Given the description of an element on the screen output the (x, y) to click on. 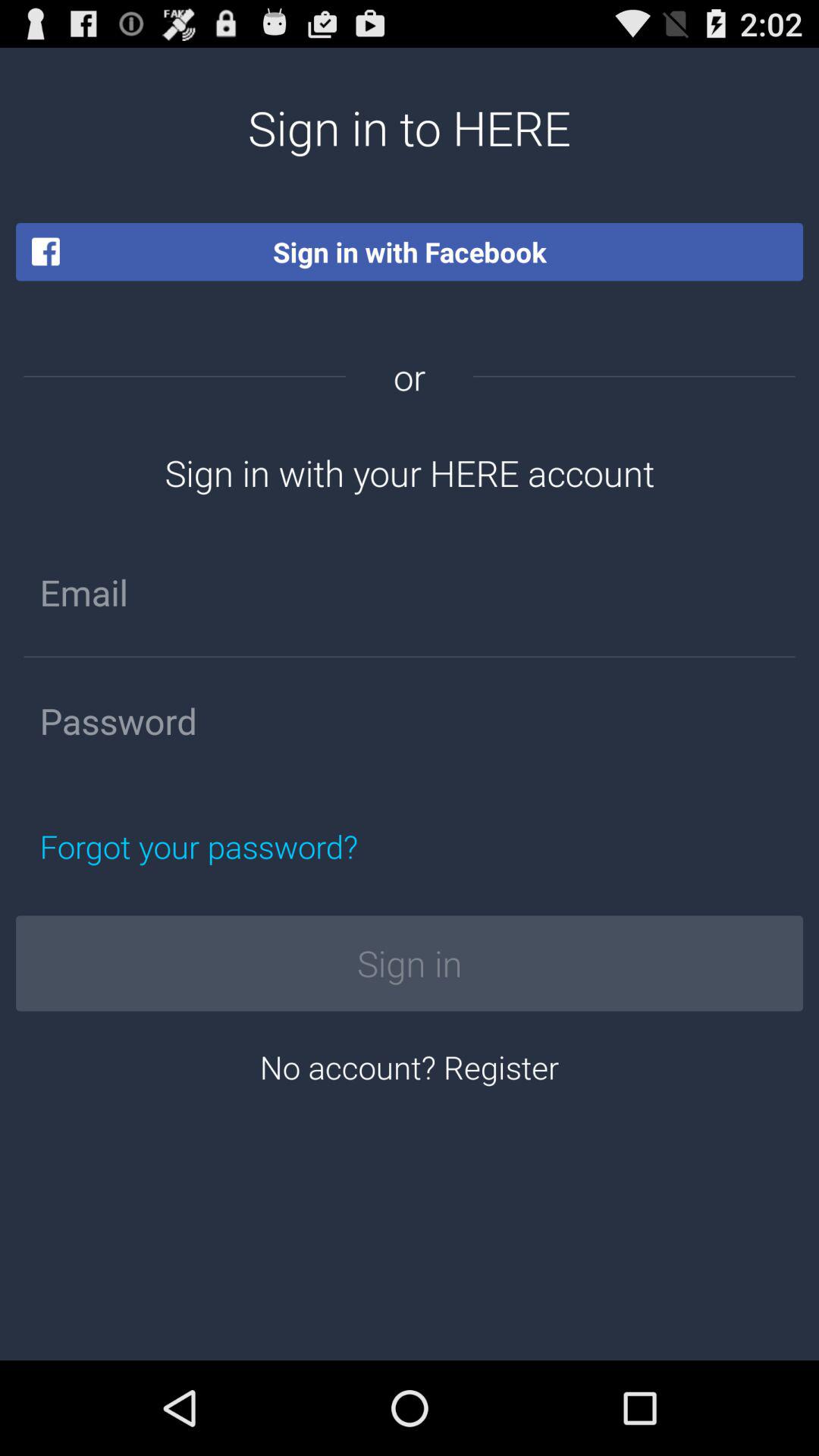
enter the password (409, 720)
